Given the description of an element on the screen output the (x, y) to click on. 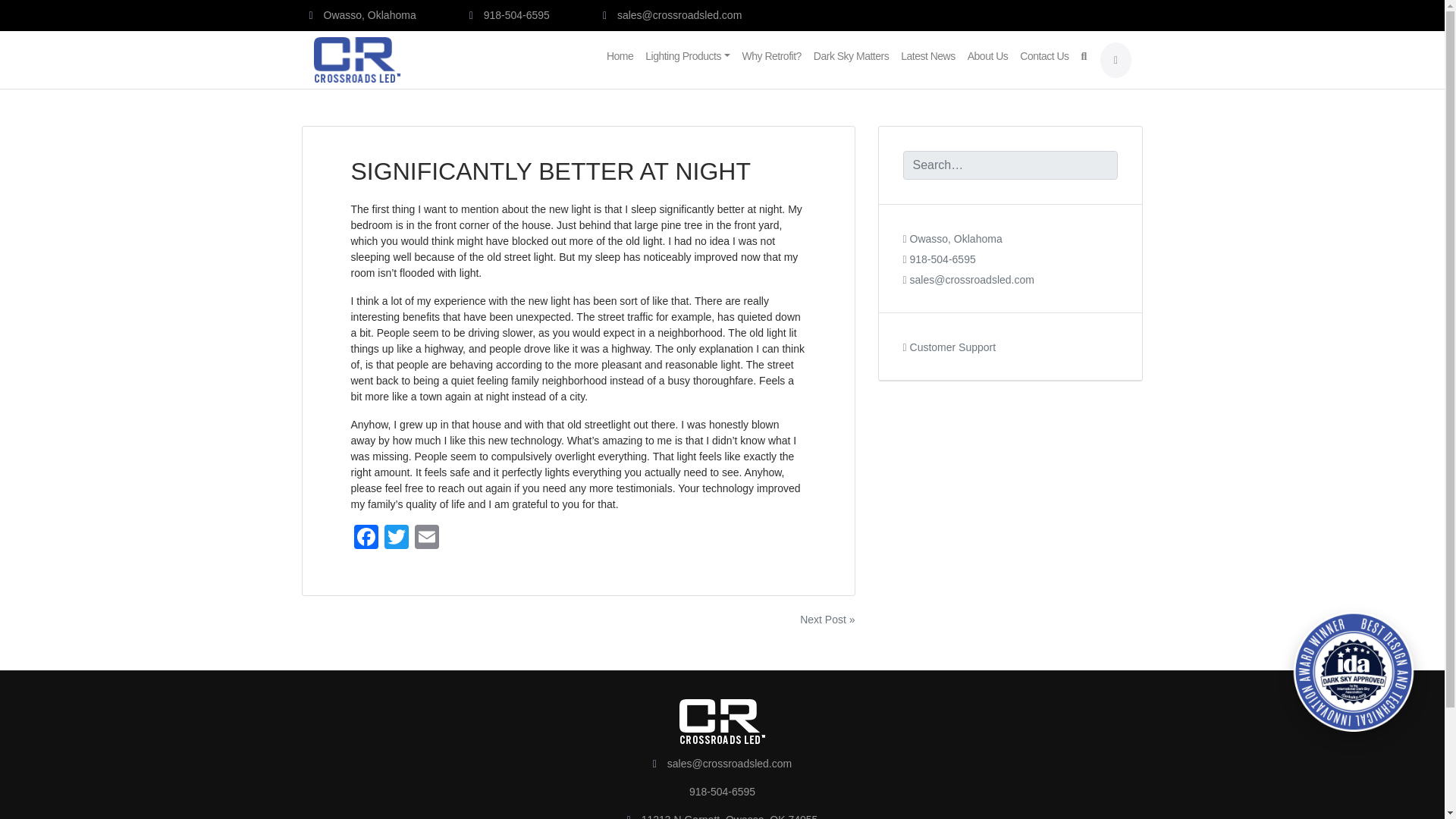
Latest News (927, 50)
918-504-6595 (509, 15)
Owasso, Oklahoma (951, 228)
CROSSROADS LED (485, 68)
Dark Sky Matters (851, 50)
Customer Support (948, 337)
Home (619, 50)
Lighting Products (687, 50)
About Us (987, 50)
Why Retrofit? (772, 50)
918-504-6595 (938, 249)
Contact Us (1043, 50)
Owasso, Oklahoma (362, 15)
